Given the description of an element on the screen output the (x, y) to click on. 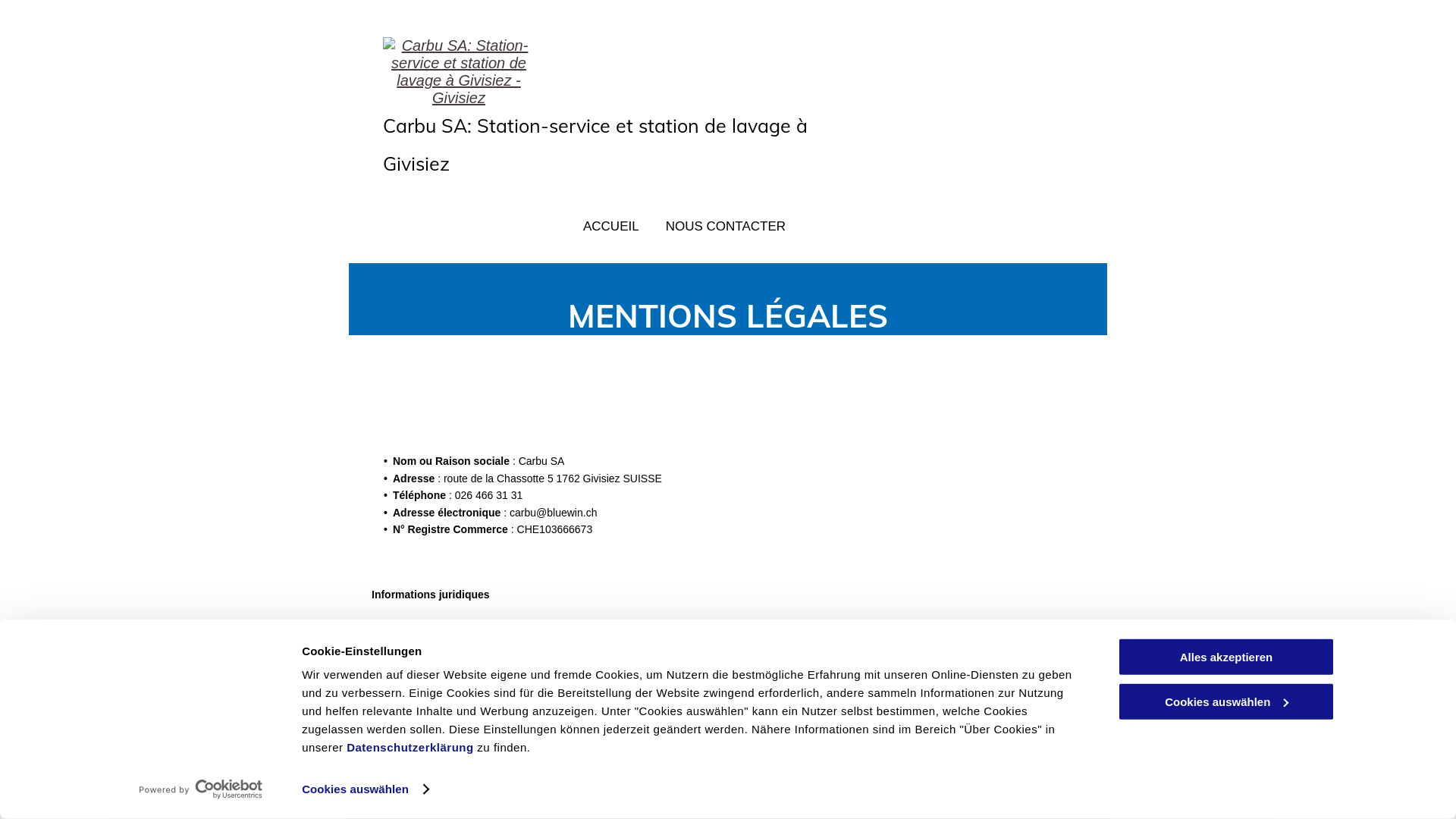
local.ch Element type: text (489, 769)
ACCUEIL Element type: text (611, 226)
Alles akzeptieren Element type: text (1225, 656)
localsearch.ch Element type: text (499, 752)
search.ch Element type: text (545, 769)
NOUS CONTACTER Element type: text (725, 226)
